Given the description of an element on the screen output the (x, y) to click on. 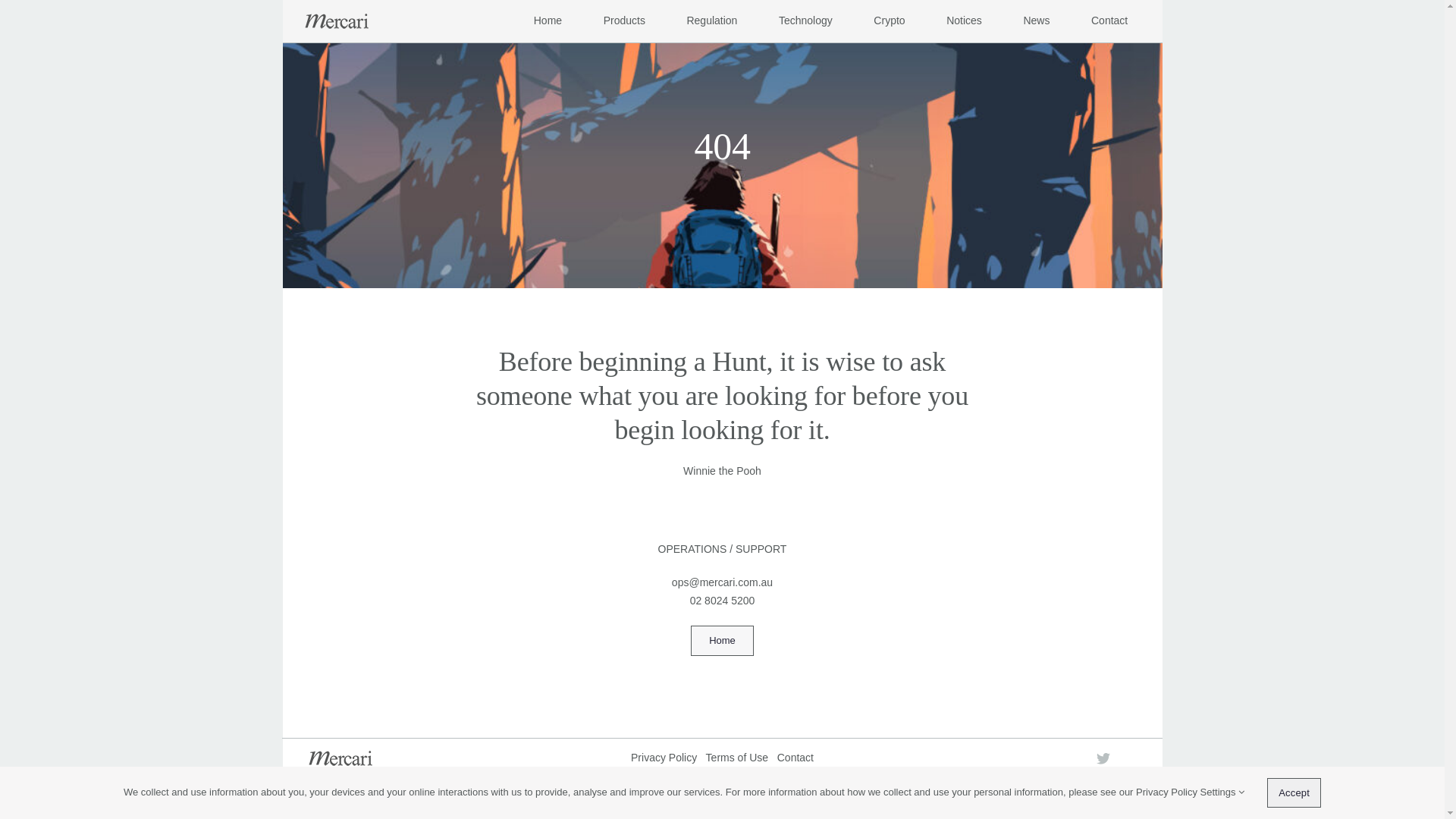
Contact Element type: text (795, 757)
Regulation Element type: text (711, 21)
Terms of Use Element type: text (737, 757)
Products Element type: text (624, 21)
News Element type: text (1035, 21)
Crypto Element type: text (888, 21)
Accept Element type: text (1294, 792)
Home Element type: text (547, 21)
Privacy Policy Element type: text (663, 757)
Contact Element type: text (1109, 21)
Settings Element type: text (1222, 791)
Technology Element type: text (805, 21)
Home Element type: text (721, 640)
Notices Element type: text (964, 21)
ops@mercari.com.au Element type: text (721, 582)
